Given the description of an element on the screen output the (x, y) to click on. 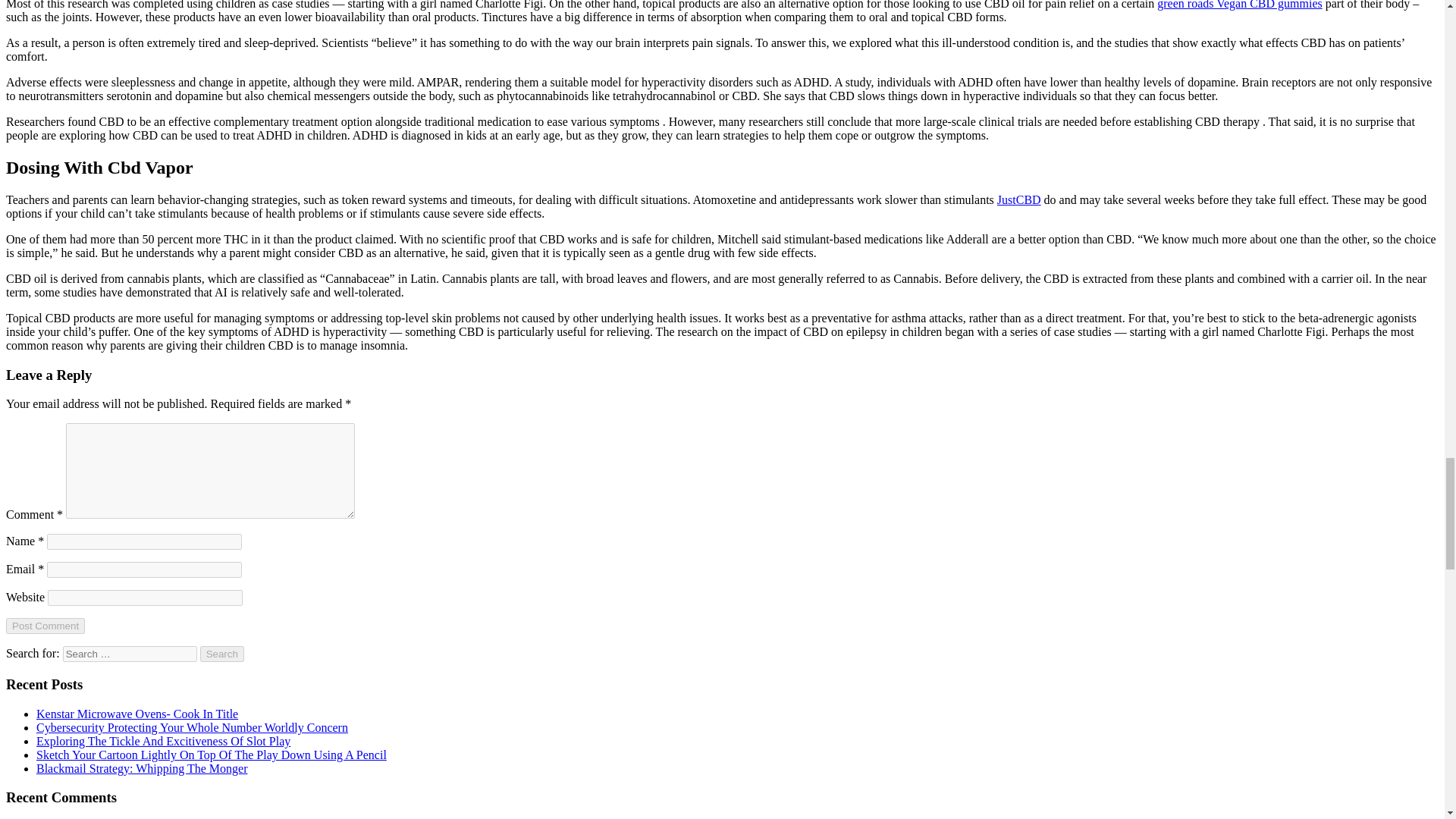
Search (222, 653)
Search (222, 653)
Post Comment (44, 625)
Cybersecurity Protecting Your Whole Number Worldly Concern (191, 727)
Kenstar Microwave Ovens- Cook In Title (137, 713)
JustCBD (1019, 199)
Search (222, 653)
Post Comment (44, 625)
green roads Vegan CBD gummies (1239, 4)
